Given the description of an element on the screen output the (x, y) to click on. 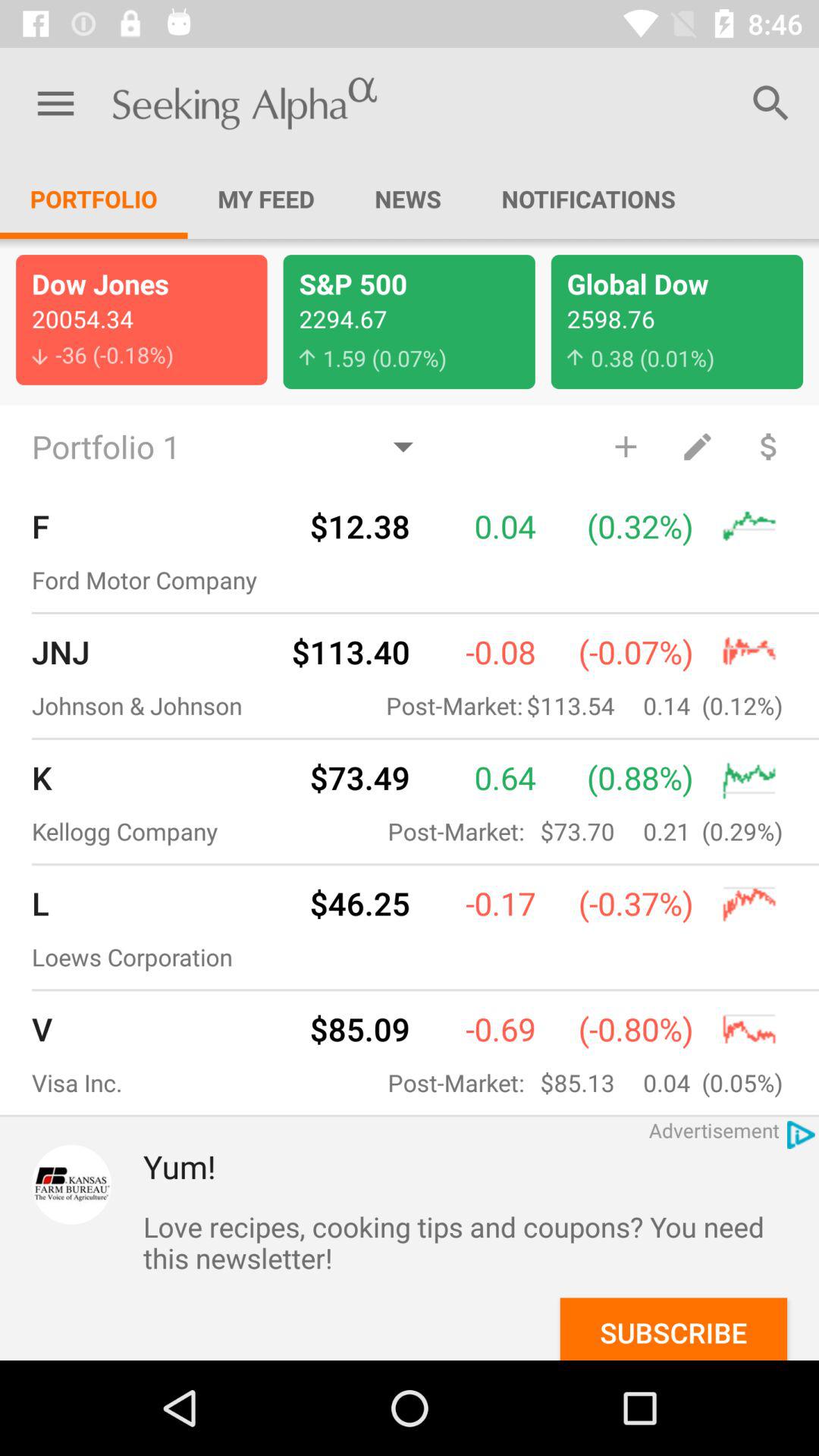
edit (697, 446)
